Given the description of an element on the screen output the (x, y) to click on. 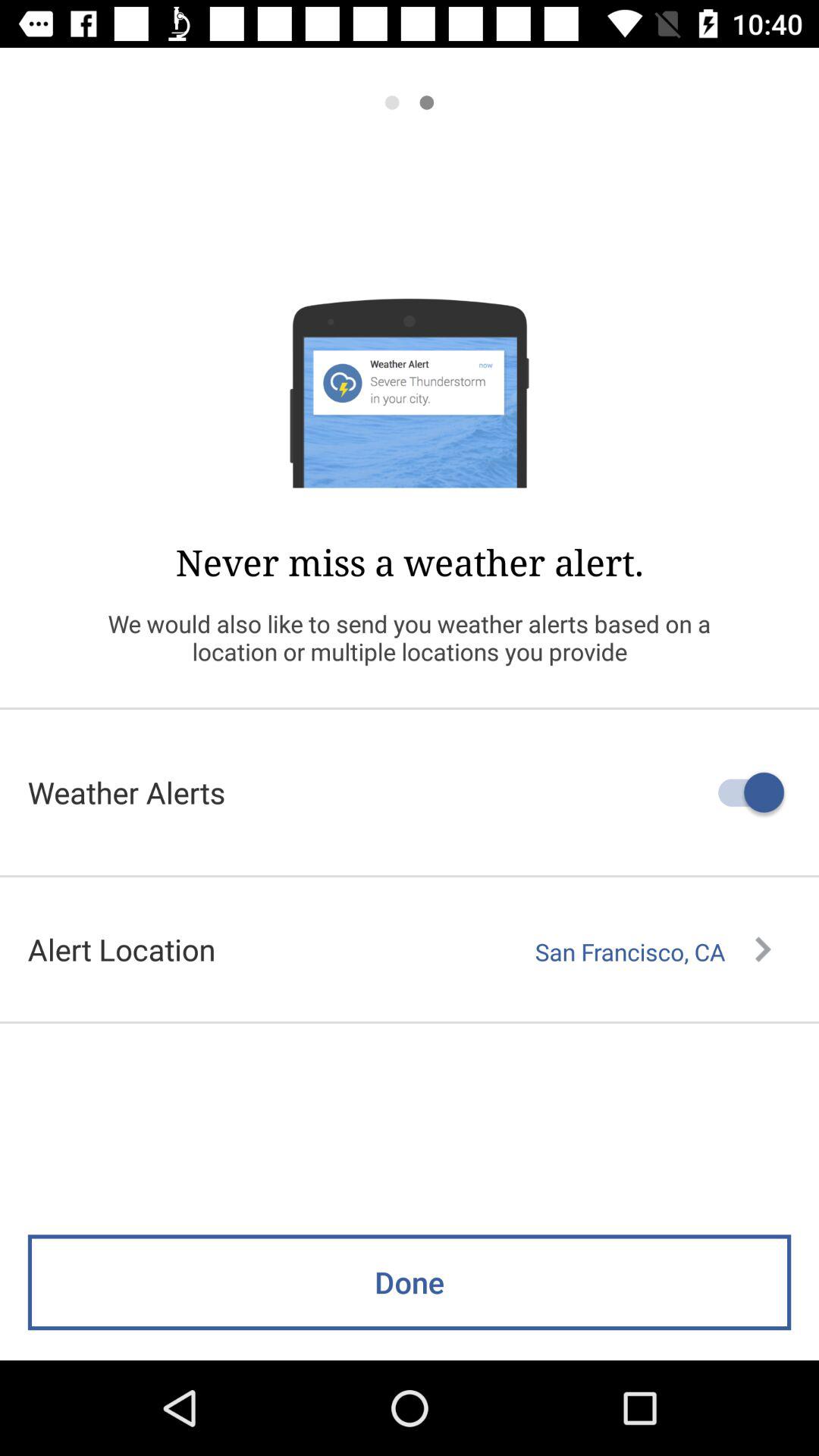
choose the icon next to alert location icon (653, 951)
